Given the description of an element on the screen output the (x, y) to click on. 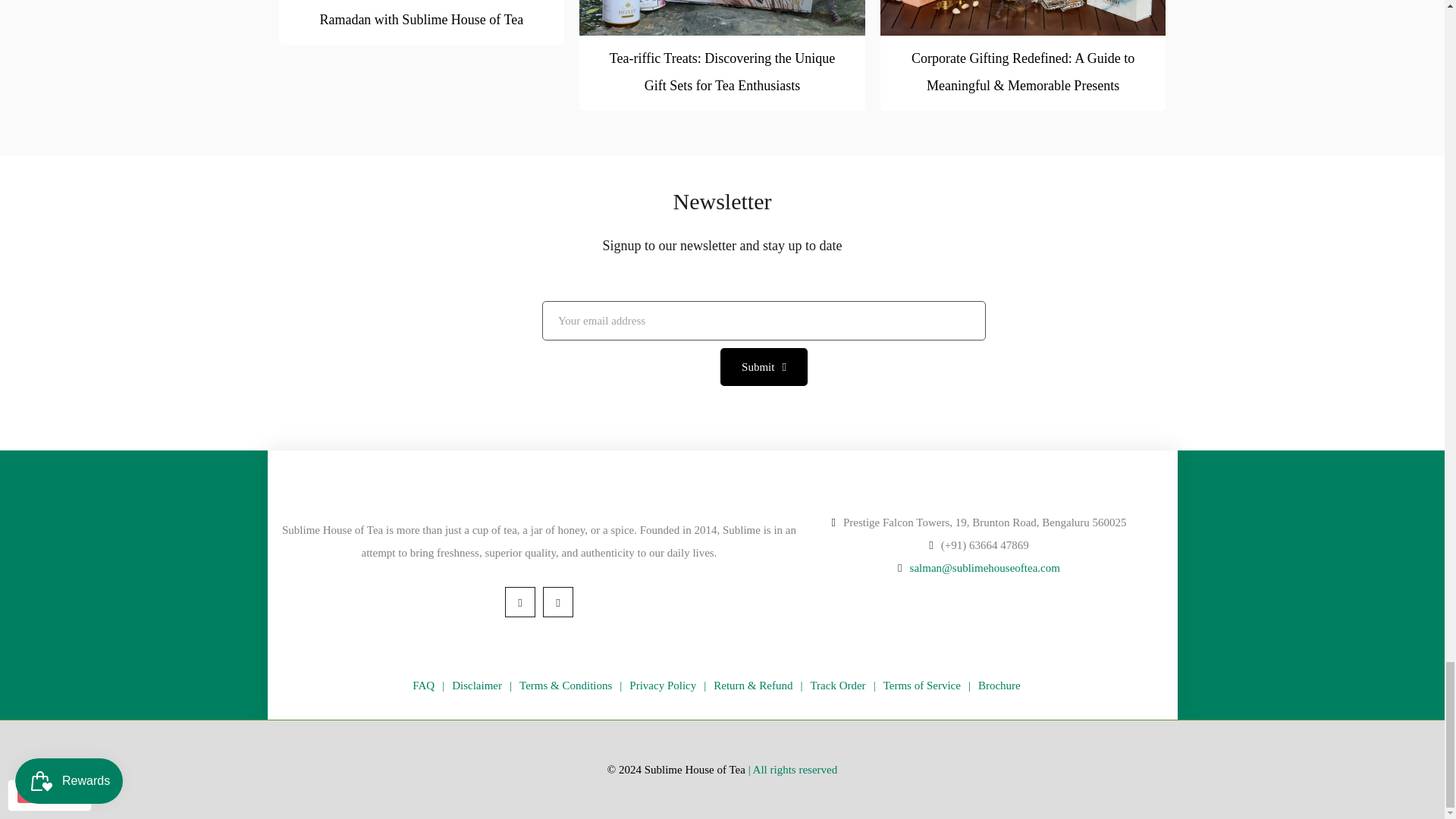
Facebook (520, 602)
Instagram (558, 602)
